Given the description of an element on the screen output the (x, y) to click on. 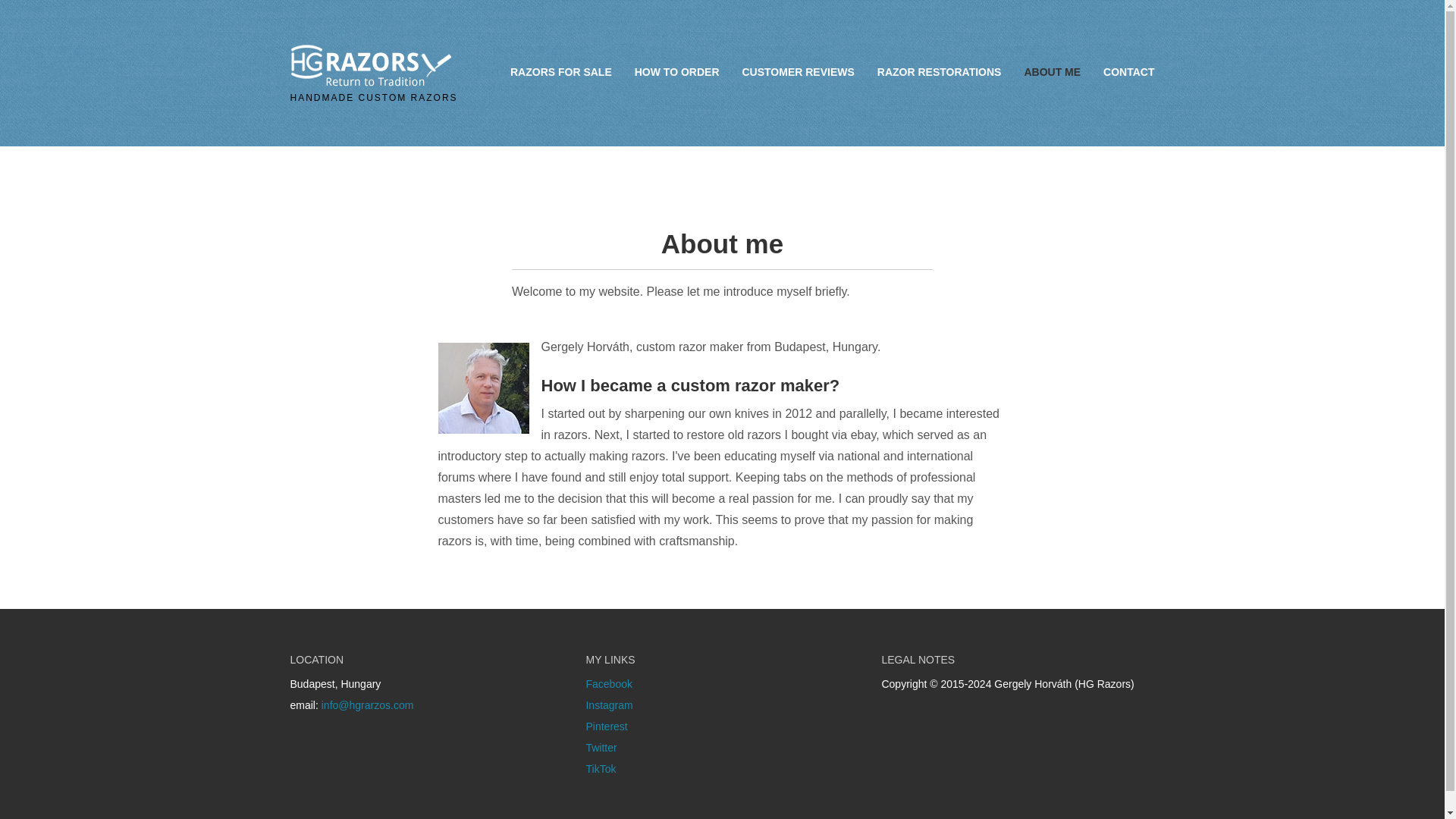
HANDMADE CUSTOM RAZORS (373, 84)
ABOUT ME (1051, 71)
Instagram (608, 705)
CUSTOMER REVIEWS (798, 71)
HOW TO ORDER (676, 71)
TikTok (600, 768)
CONTACT (1129, 71)
Twitter (600, 747)
RAZORS FOR SALE (561, 71)
Facebook (608, 684)
